Given the description of an element on the screen output the (x, y) to click on. 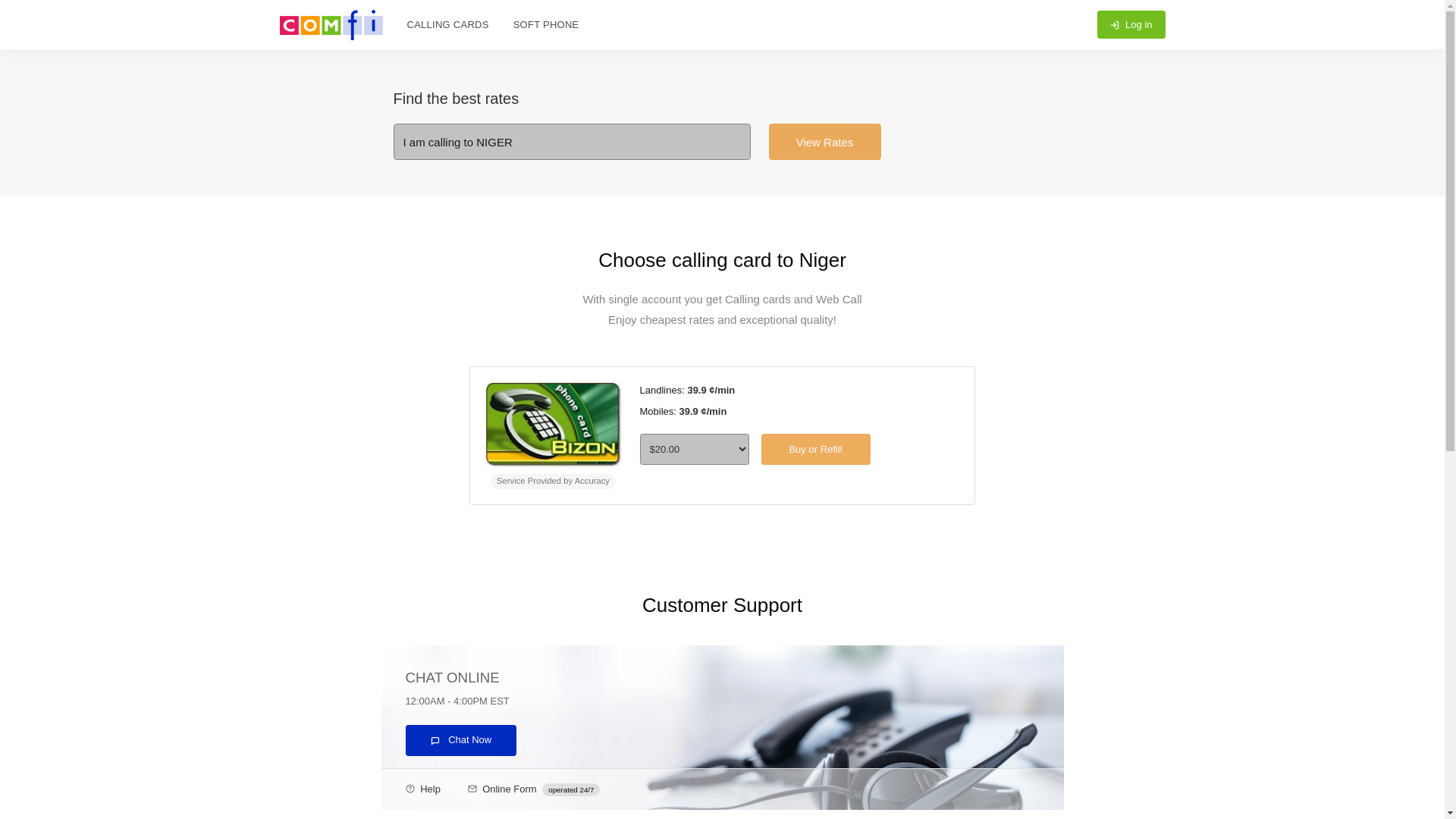
Log in (1130, 24)
CALLING CARDS (447, 24)
SOFT PHONE (545, 24)
View Rates (824, 141)
Help (430, 787)
Buy or Refill (815, 449)
